Given the description of an element on the screen output the (x, y) to click on. 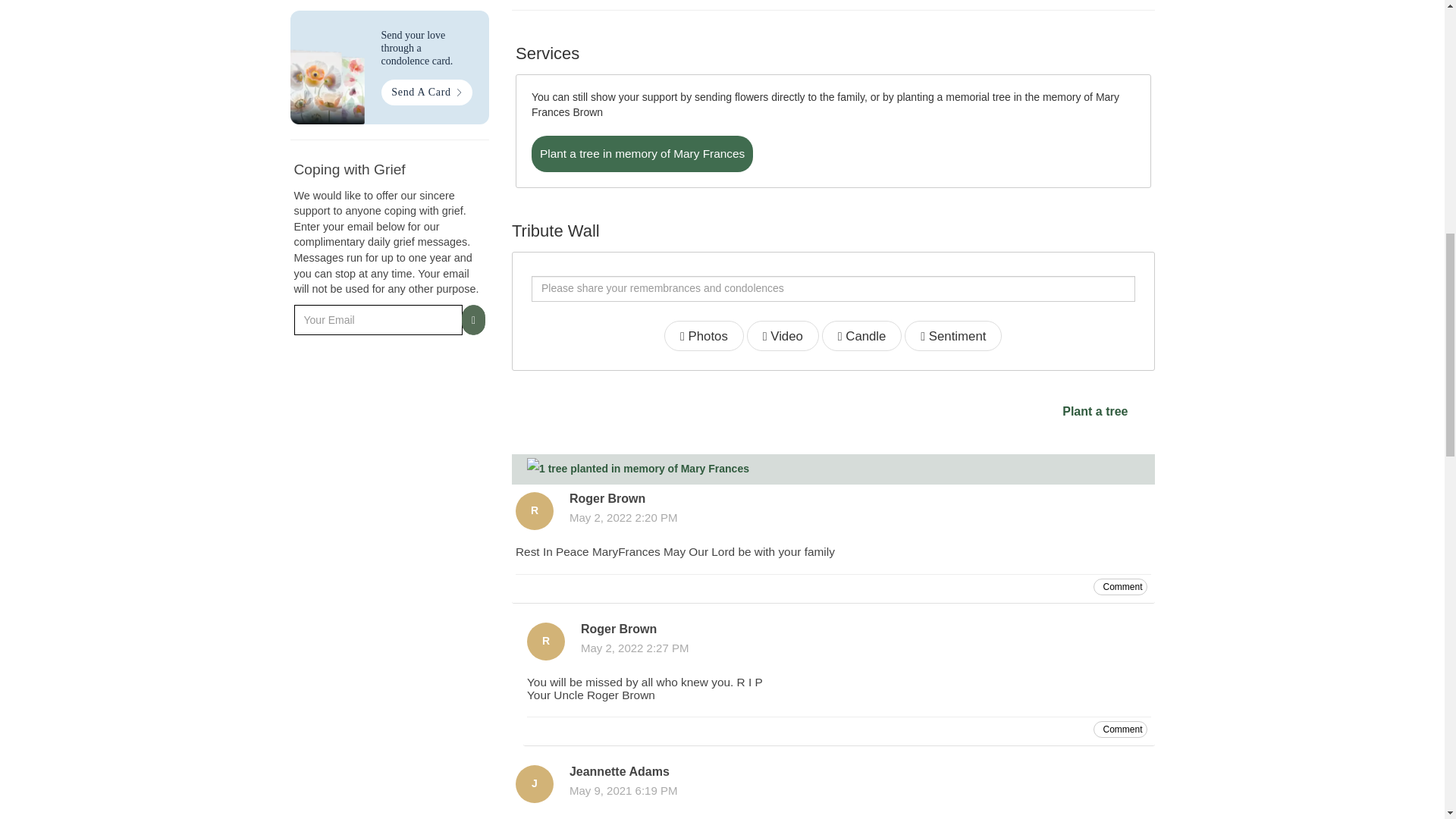
Plant a tree (1095, 411)
Plant a tree in memory of Mary Frances (641, 153)
Plant a tree (1095, 411)
Send A Card (425, 92)
  Comment (1120, 586)
Roger Brown (545, 640)
  Comment (1120, 729)
Roger Brown (534, 510)
Jeannette Adams (534, 783)
